Given the description of an element on the screen output the (x, y) to click on. 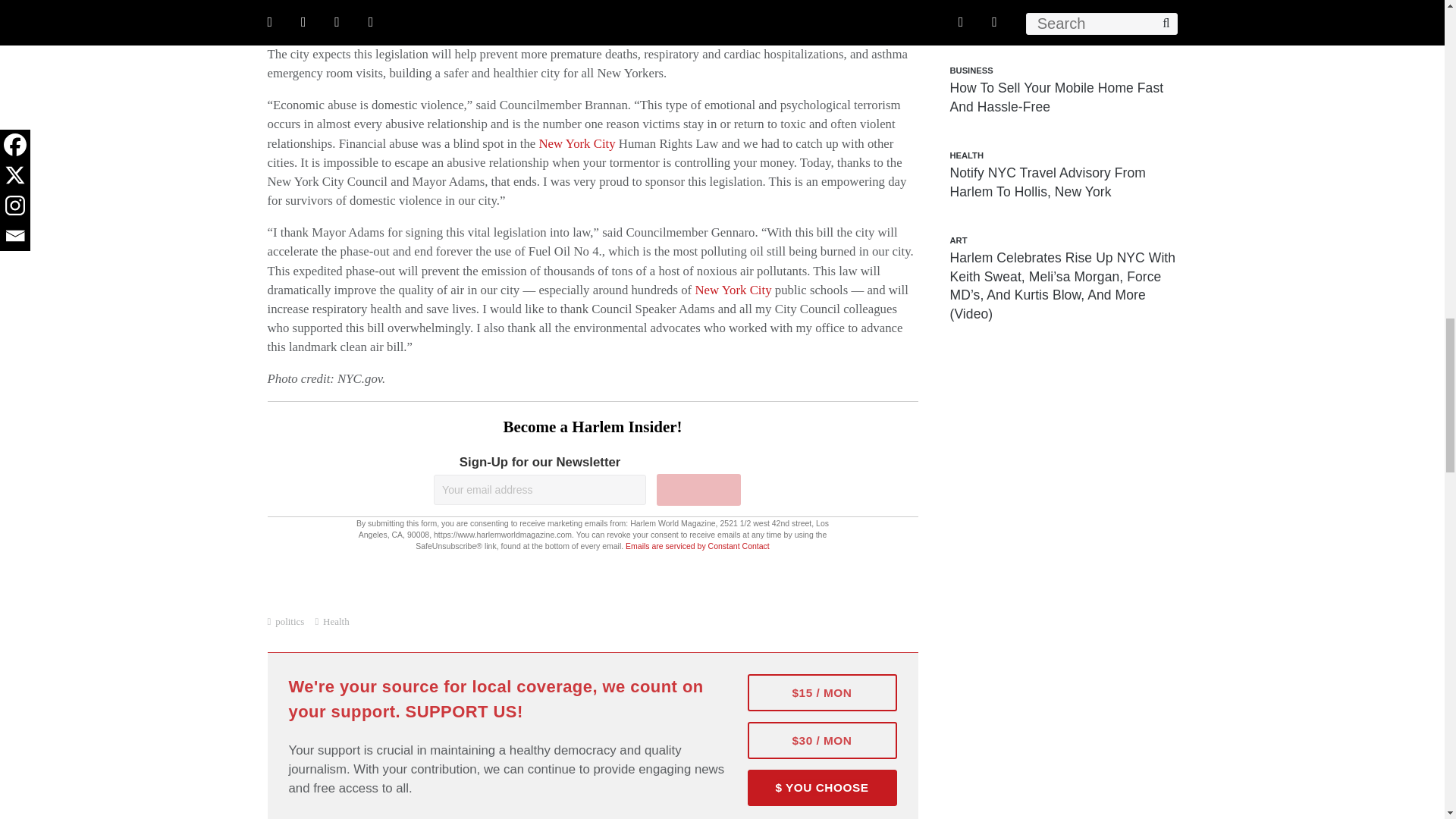
New York City (576, 143)
Emails are serviced by Constant Contact (698, 545)
politics (289, 621)
Health (336, 621)
Sign up (698, 490)
Sign up (698, 490)
New York City (732, 289)
New York City (458, 16)
